Given the description of an element on the screen output the (x, y) to click on. 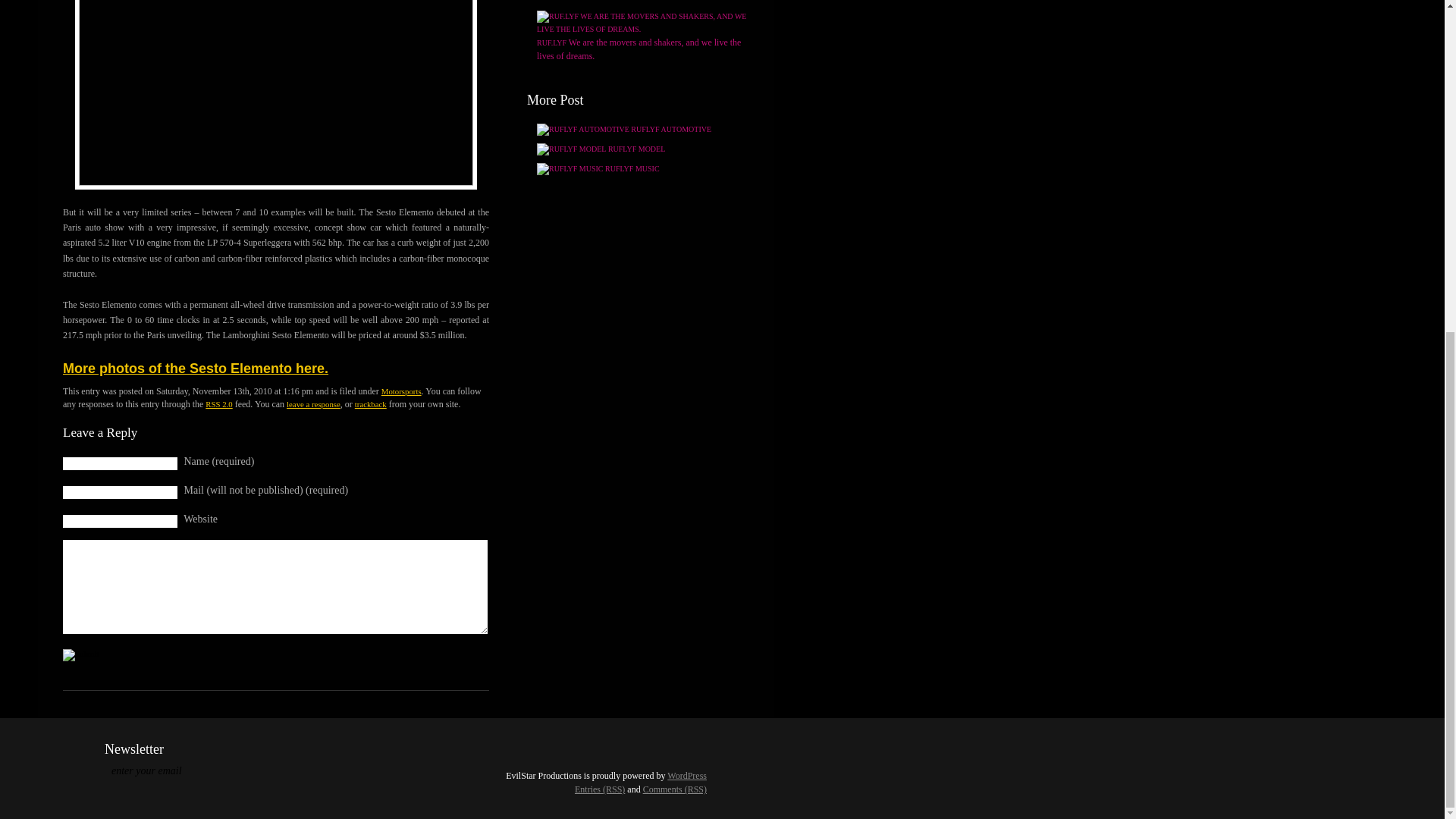
Submit (80, 654)
trackback (371, 403)
More photos of the Sesto Elemento here. (195, 368)
RUFLYF MUSIC (598, 168)
Motorsports (401, 390)
enter your email (173, 772)
RUF.LYF (641, 35)
leave a response (313, 403)
RSS 2.0 (218, 403)
WordPress (686, 775)
